Given the description of an element on the screen output the (x, y) to click on. 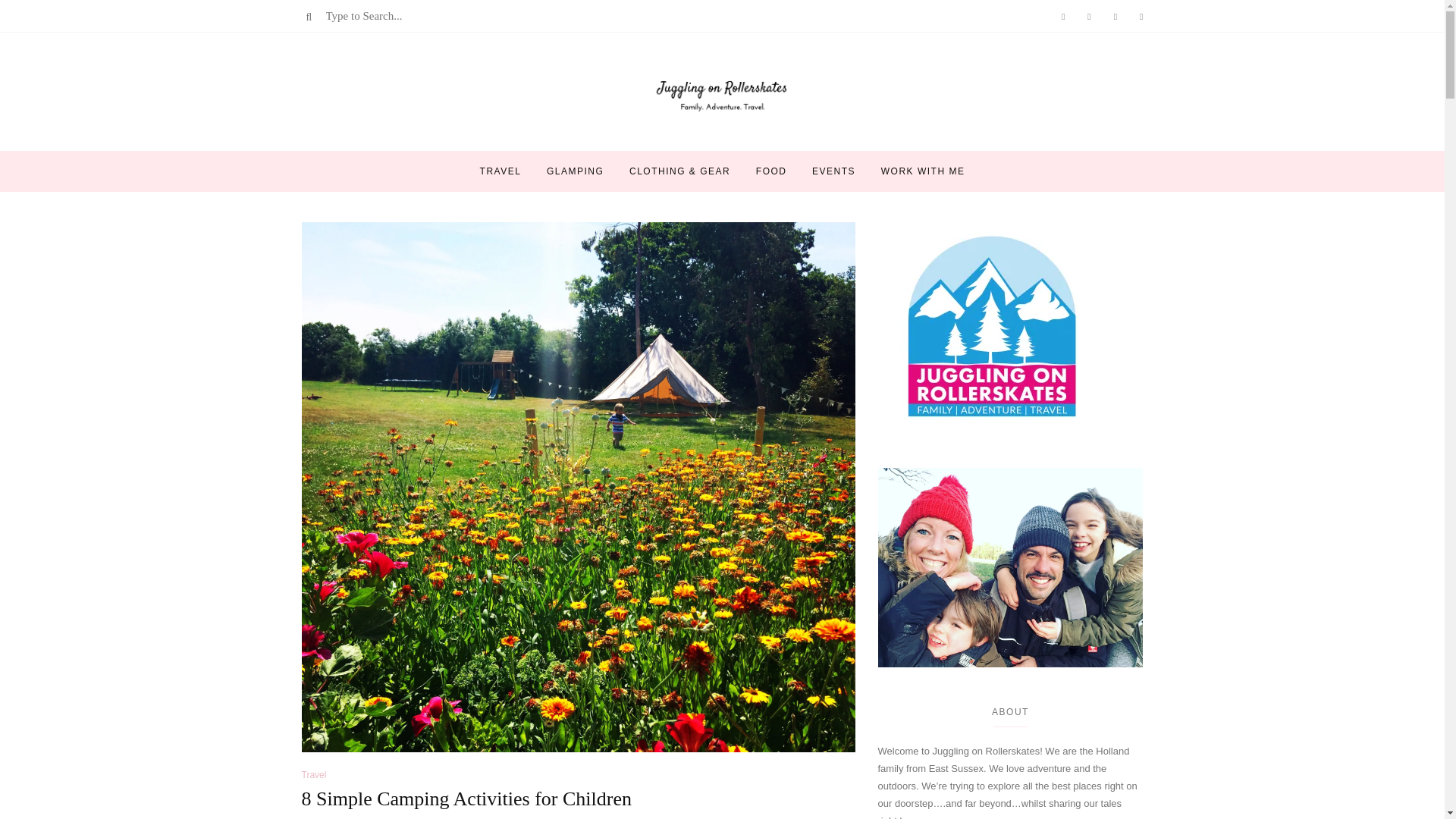
WORK WITH ME (922, 170)
Travel (313, 774)
EVENTS (834, 170)
GLAMPING (575, 170)
TRAVEL (500, 170)
